Given the description of an element on the screen output the (x, y) to click on. 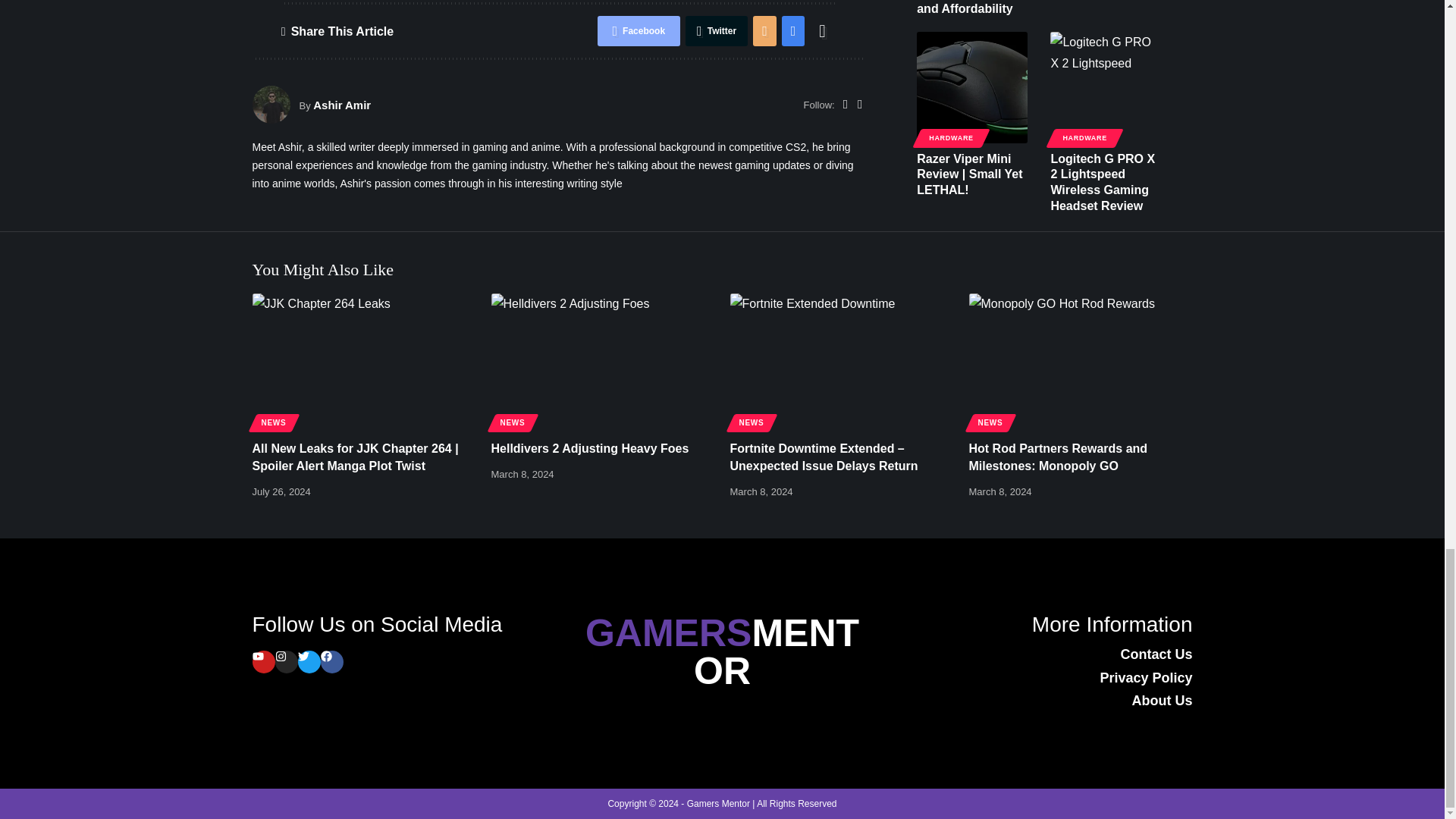
Helldivers 2 Adjusting Heavy Foes (603, 360)
Hot Rod Partners Rewards and Milestones: Monopoly GO (1080, 360)
